Given the description of an element on the screen output the (x, y) to click on. 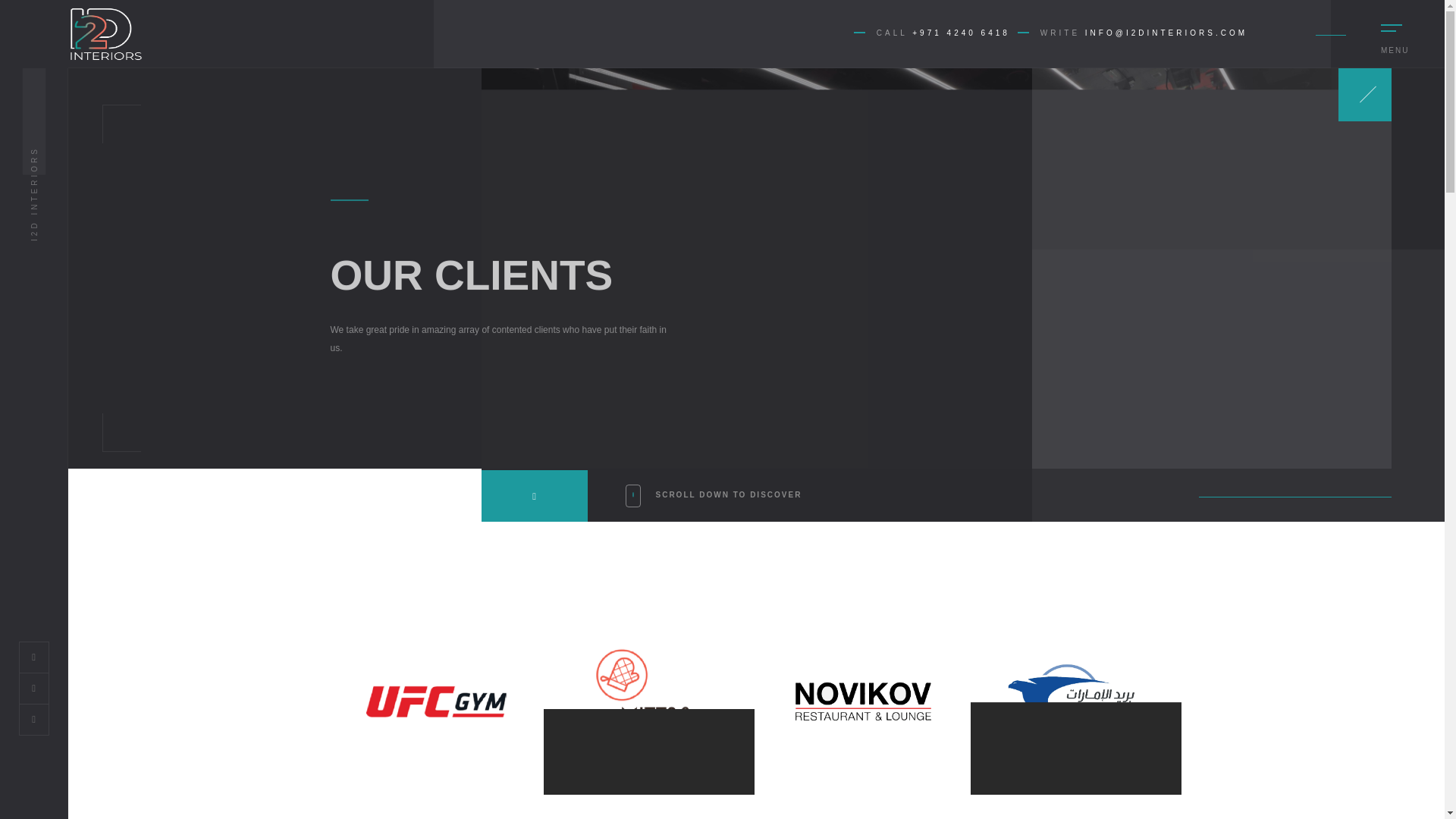
CONTACT US (329, 570)
SCROLL DOWN TO DISCOVER (713, 510)
Send (1195, 600)
Send (1195, 600)
OUR SERVICES (335, 534)
OUR PORTFOLIO (339, 552)
